Given the description of an element on the screen output the (x, y) to click on. 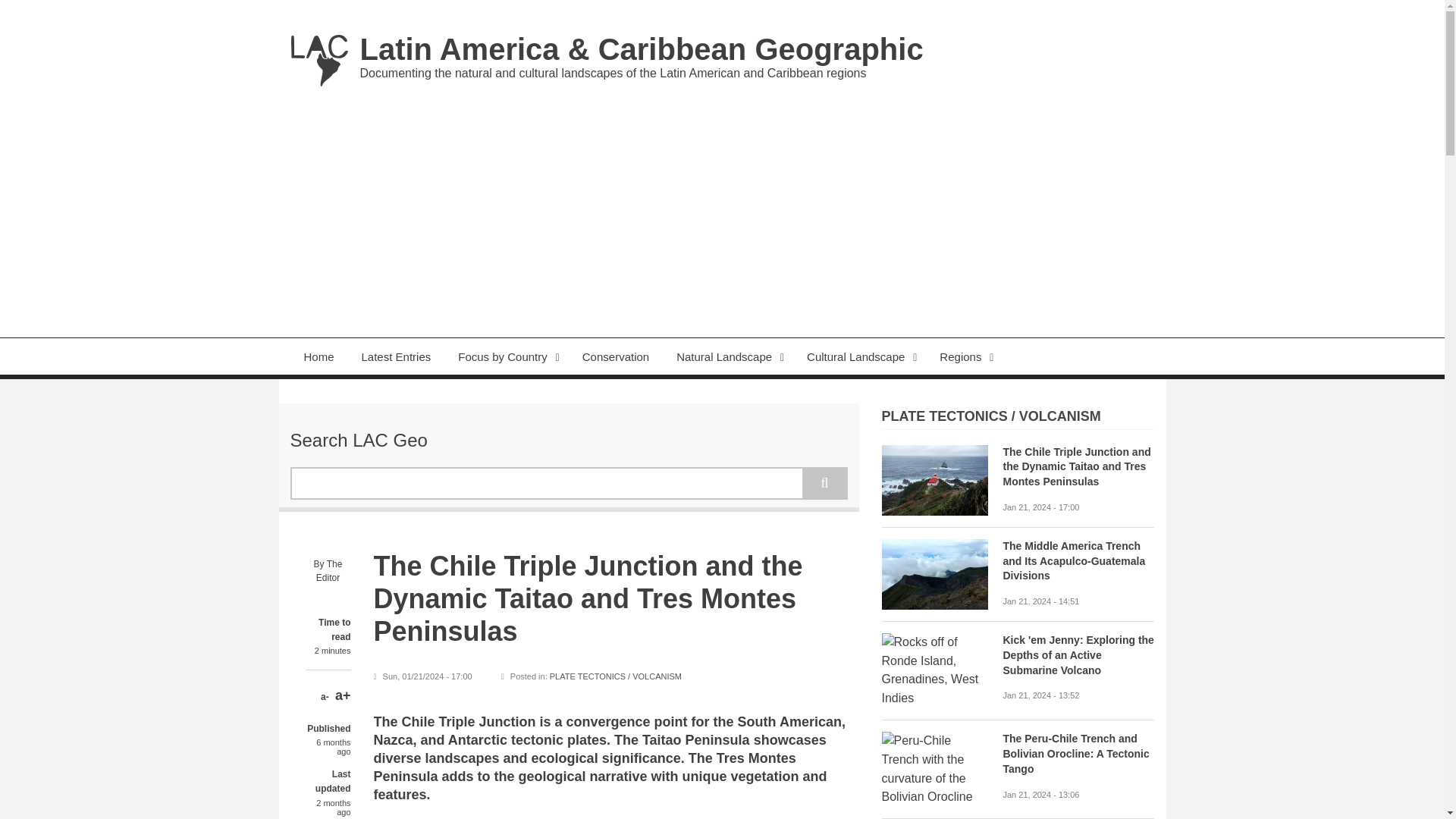
Search (824, 482)
Regions (964, 356)
Cultural Landscape (859, 356)
Conservation (615, 356)
Latest Entries (396, 356)
Natural Landscape (727, 356)
Home (318, 356)
Cultural Landscape (859, 356)
Focus by Country (506, 356)
